Given the description of an element on the screen output the (x, y) to click on. 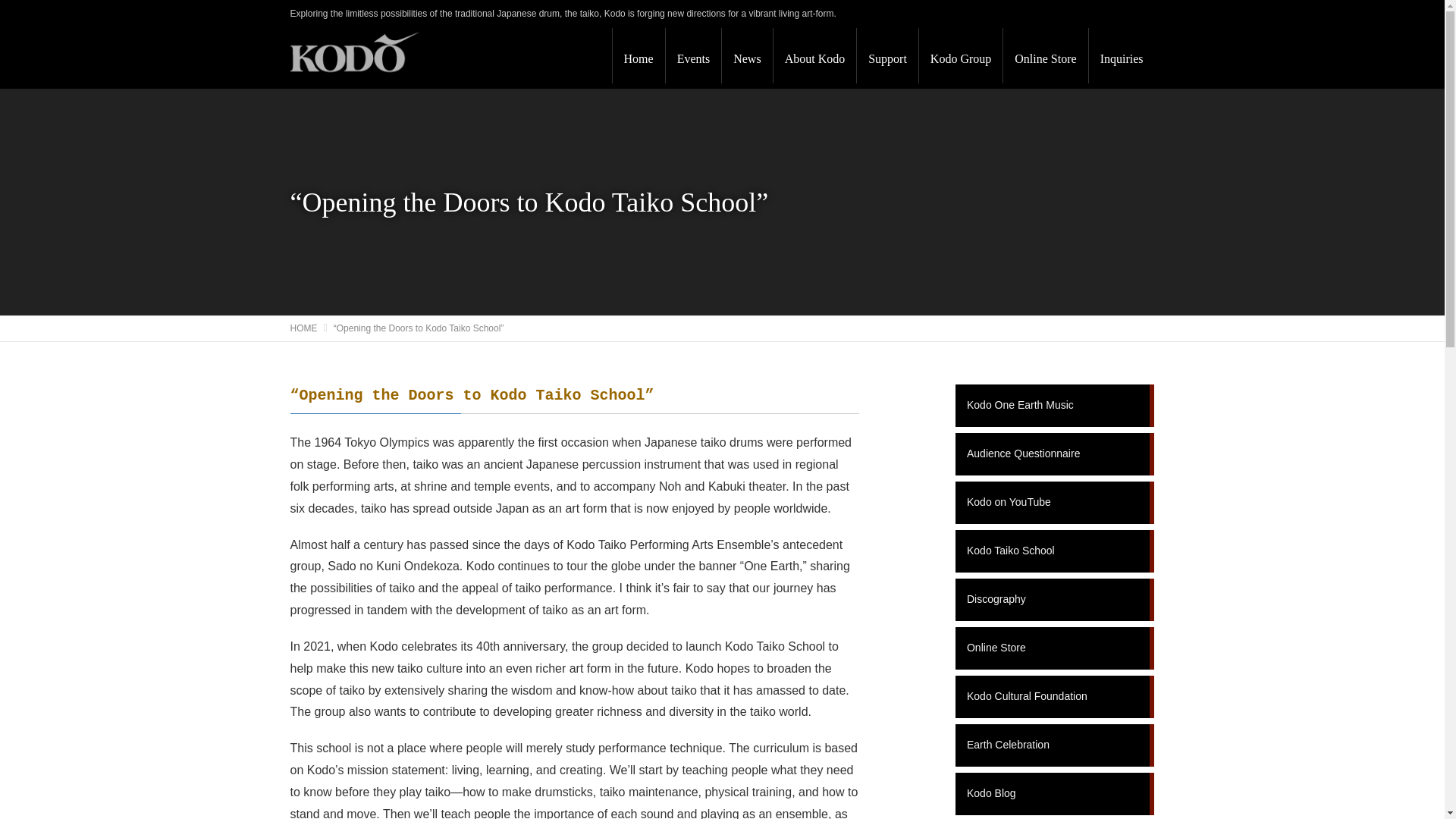
Events (693, 55)
Support (887, 55)
News (746, 55)
Kodo Group (960, 55)
About Kodo (815, 55)
Online Store (1045, 55)
Home (638, 55)
